Given the description of an element on the screen output the (x, y) to click on. 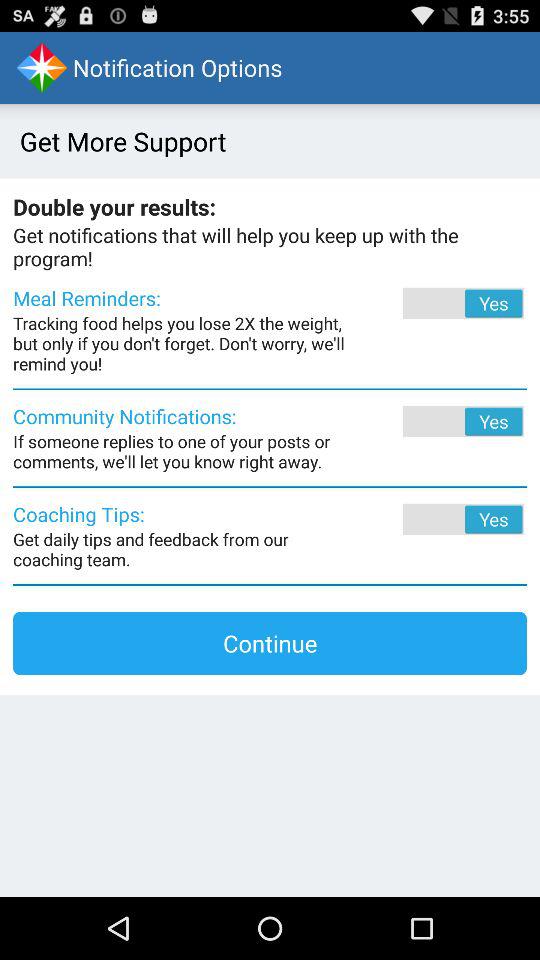
turn off item to the right of the meal reminders: item (436, 303)
